Given the description of an element on the screen output the (x, y) to click on. 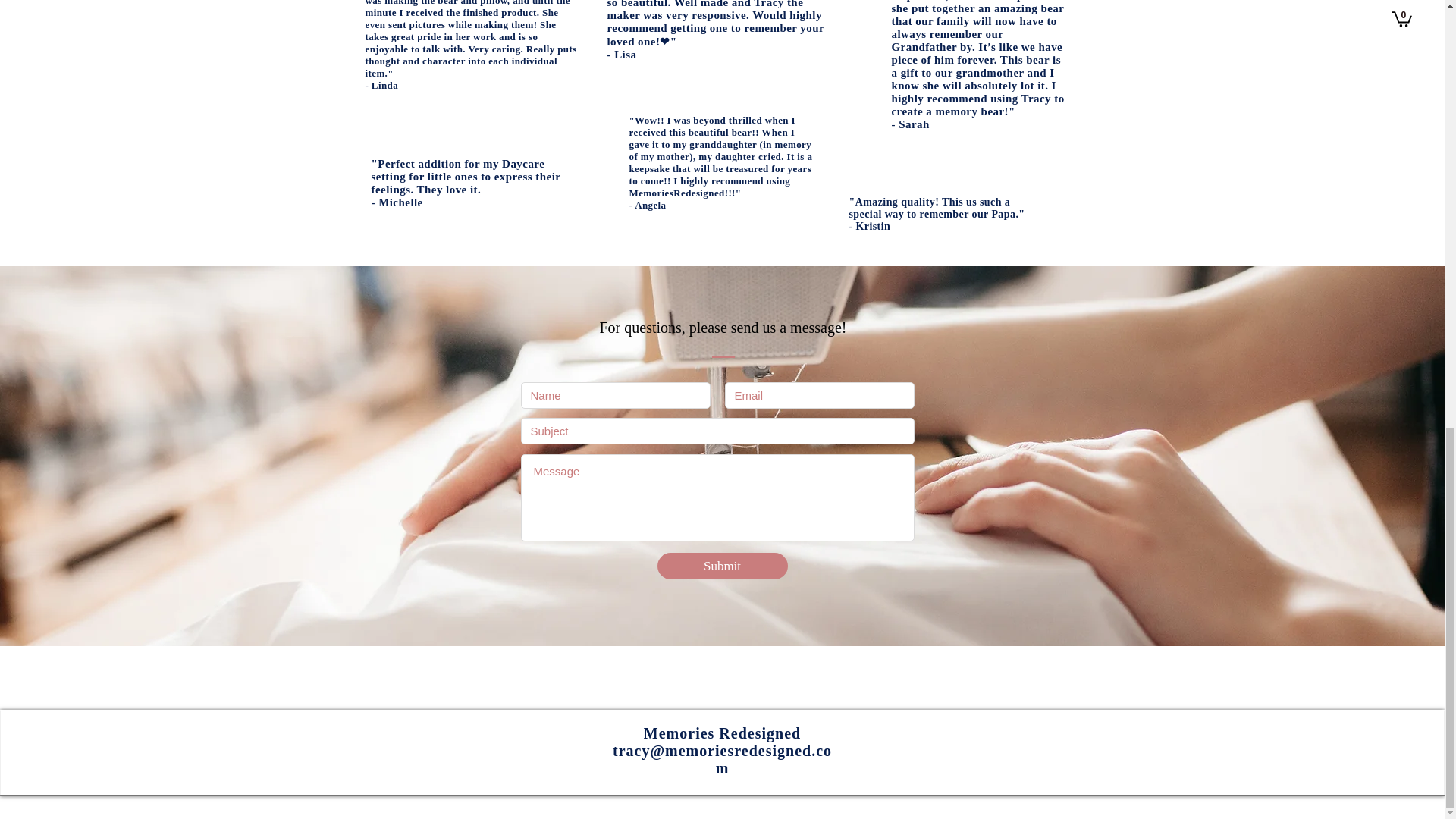
Submit (721, 565)
